Given the description of an element on the screen output the (x, y) to click on. 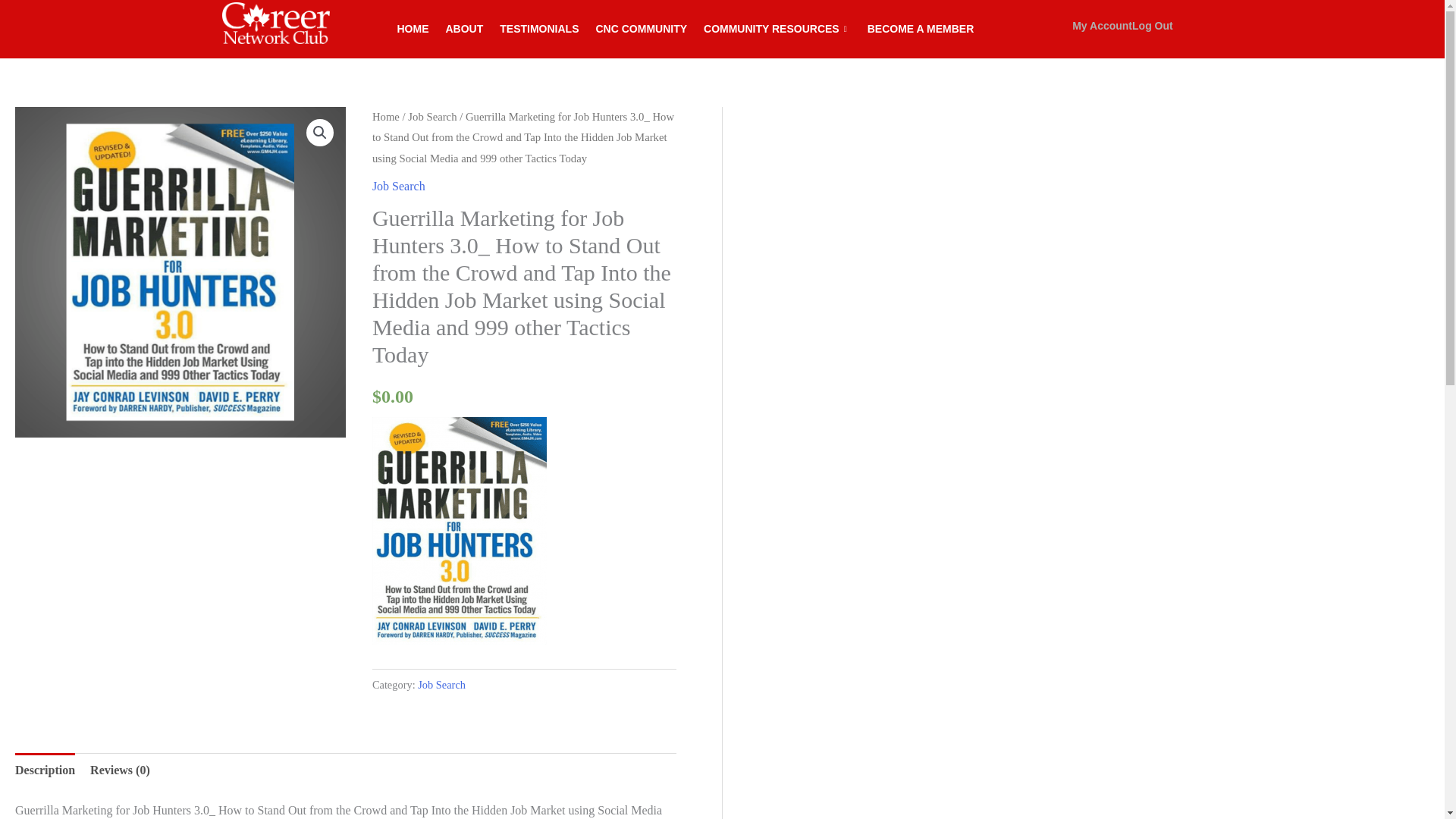
Home (385, 116)
050-Guerilla-Marketing-For-Job-Hunters-3 (180, 272)
My Account (1101, 26)
HOME (412, 28)
COMMUNITY RESOURCES (777, 28)
BECOME A MEMBER (920, 28)
TESTIMONIALS (539, 28)
CNC COMMUNITY (640, 28)
Description (44, 769)
Job Search (441, 684)
Job Search (398, 185)
Job Search (432, 116)
ABOUT (464, 28)
